Given the description of an element on the screen output the (x, y) to click on. 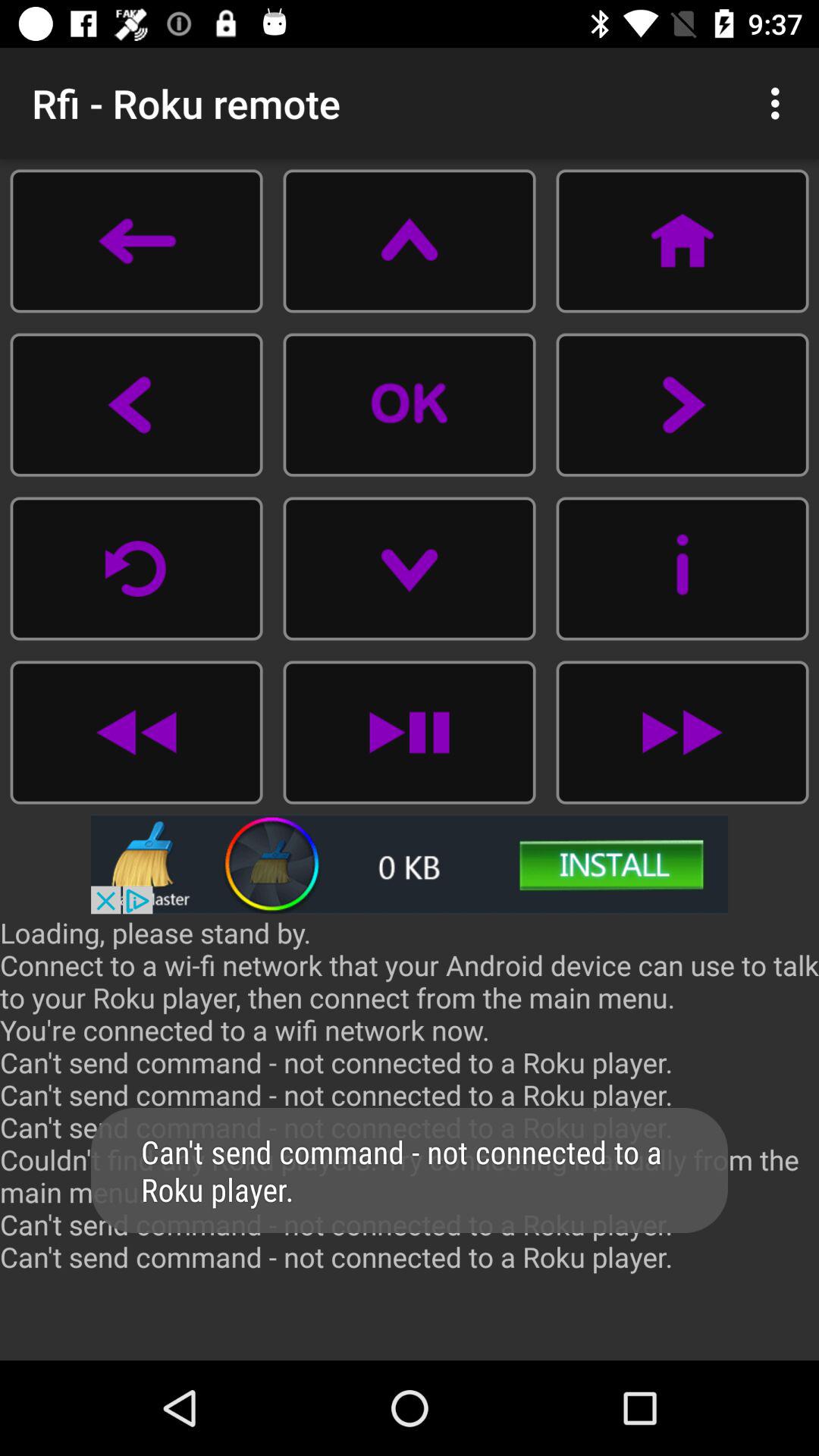
0 kb install (409, 863)
